Given the description of an element on the screen output the (x, y) to click on. 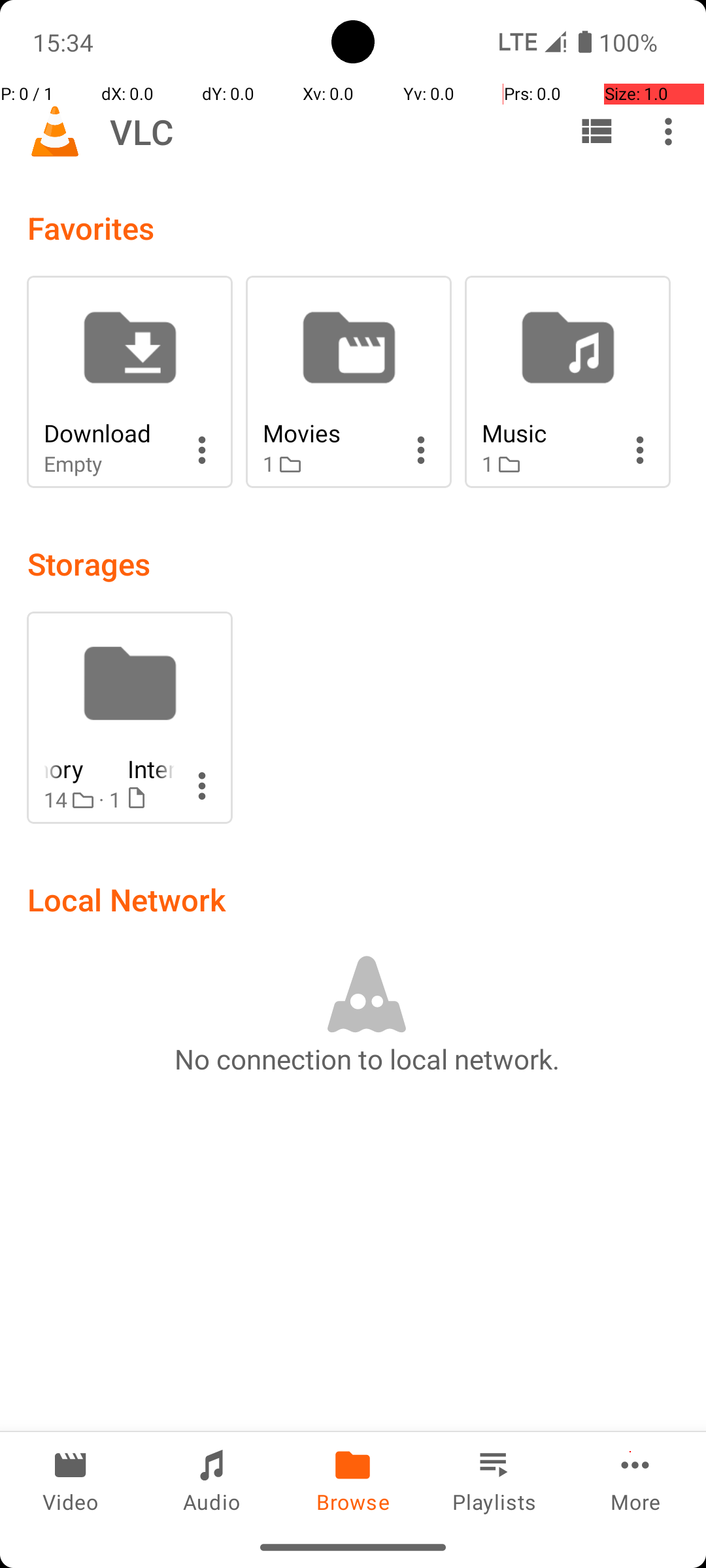
Display in list Element type: android.widget.TextView (595, 131)
Storages Element type: android.widget.TextView (88, 563)
Local Network Element type: android.widget.TextView (126, 898)
No connection to local network. Element type: android.widget.TextView (366, 1058)
Favorite: Download, Empty Element type: androidx.cardview.widget.CardView (129, 381)
Favorite: Movies, 1 subfolder Element type: androidx.cardview.widget.CardView (348, 381)
Favorite: Music, 1 subfolder Element type: androidx.cardview.widget.CardView (567, 381)
Folder: Internal memory, 14 subfolders, 1 media file Element type: androidx.cardview.widget.CardView (129, 717)
Empty Element type: android.widget.TextView (108, 463)
1 §*§ Element type: android.widget.TextView (327, 463)
14 §*§ · 1 *§* Element type: android.widget.TextView (108, 799)
